Given the description of an element on the screen output the (x, y) to click on. 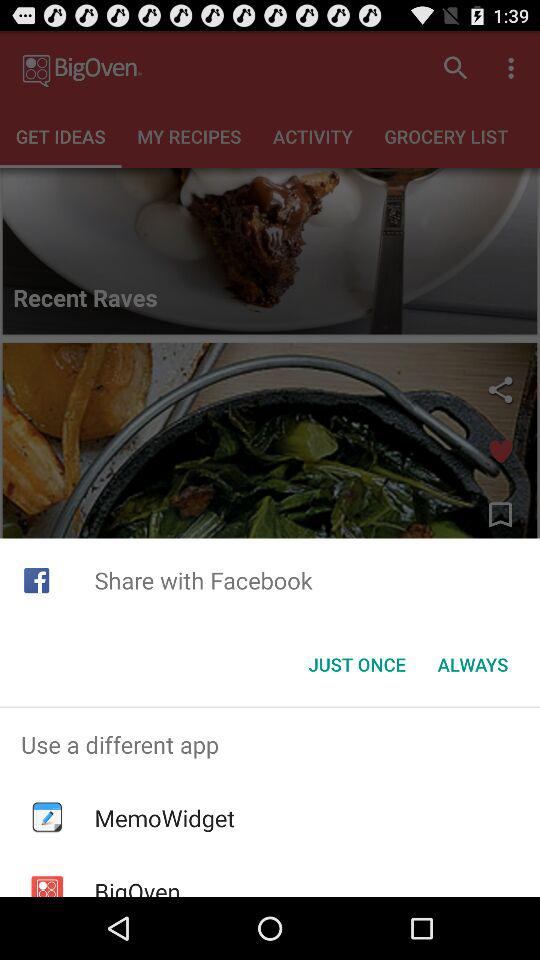
swipe to just once icon (356, 664)
